Given the description of an element on the screen output the (x, y) to click on. 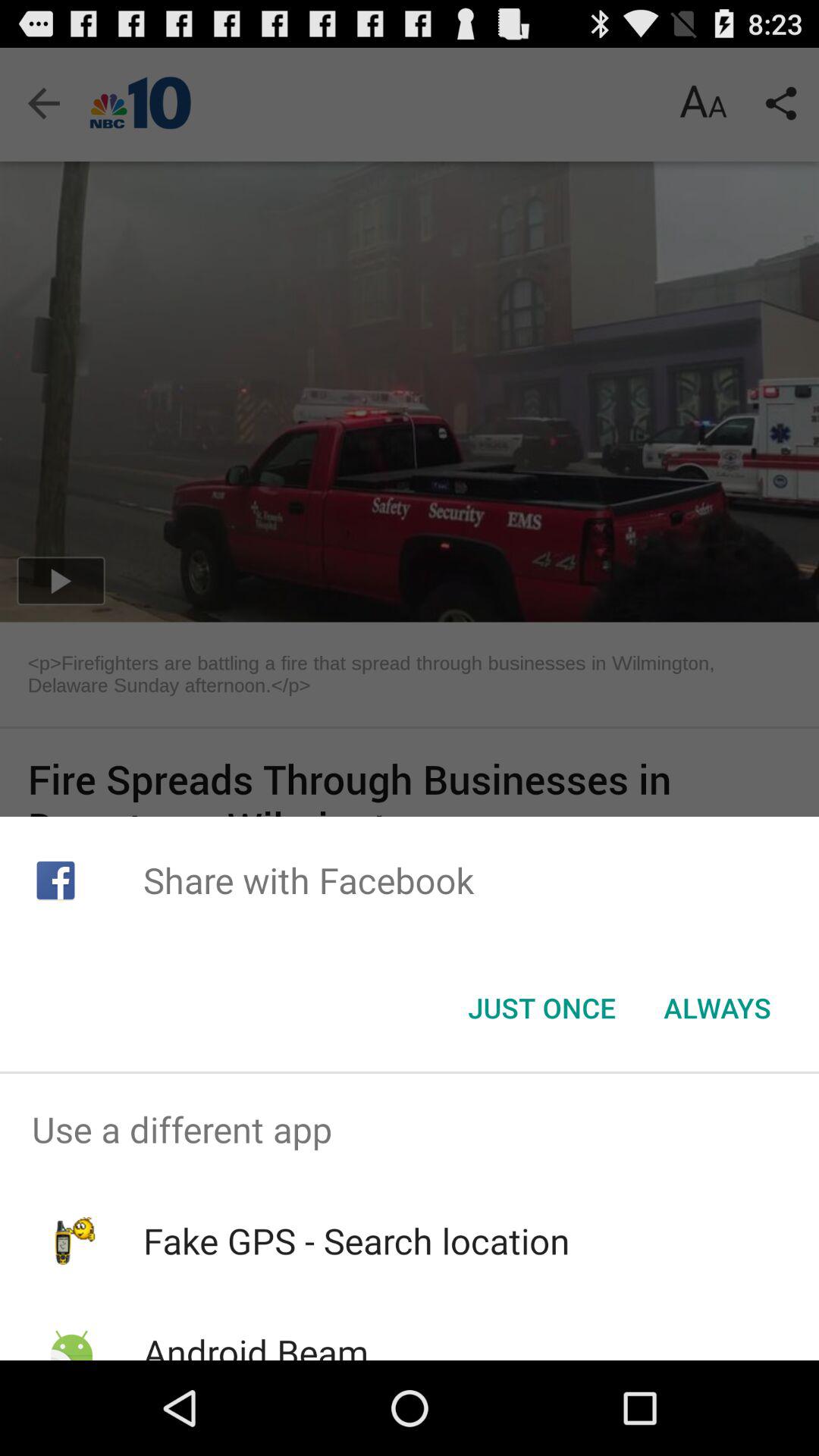
scroll until just once icon (541, 1007)
